Given the description of an element on the screen output the (x, y) to click on. 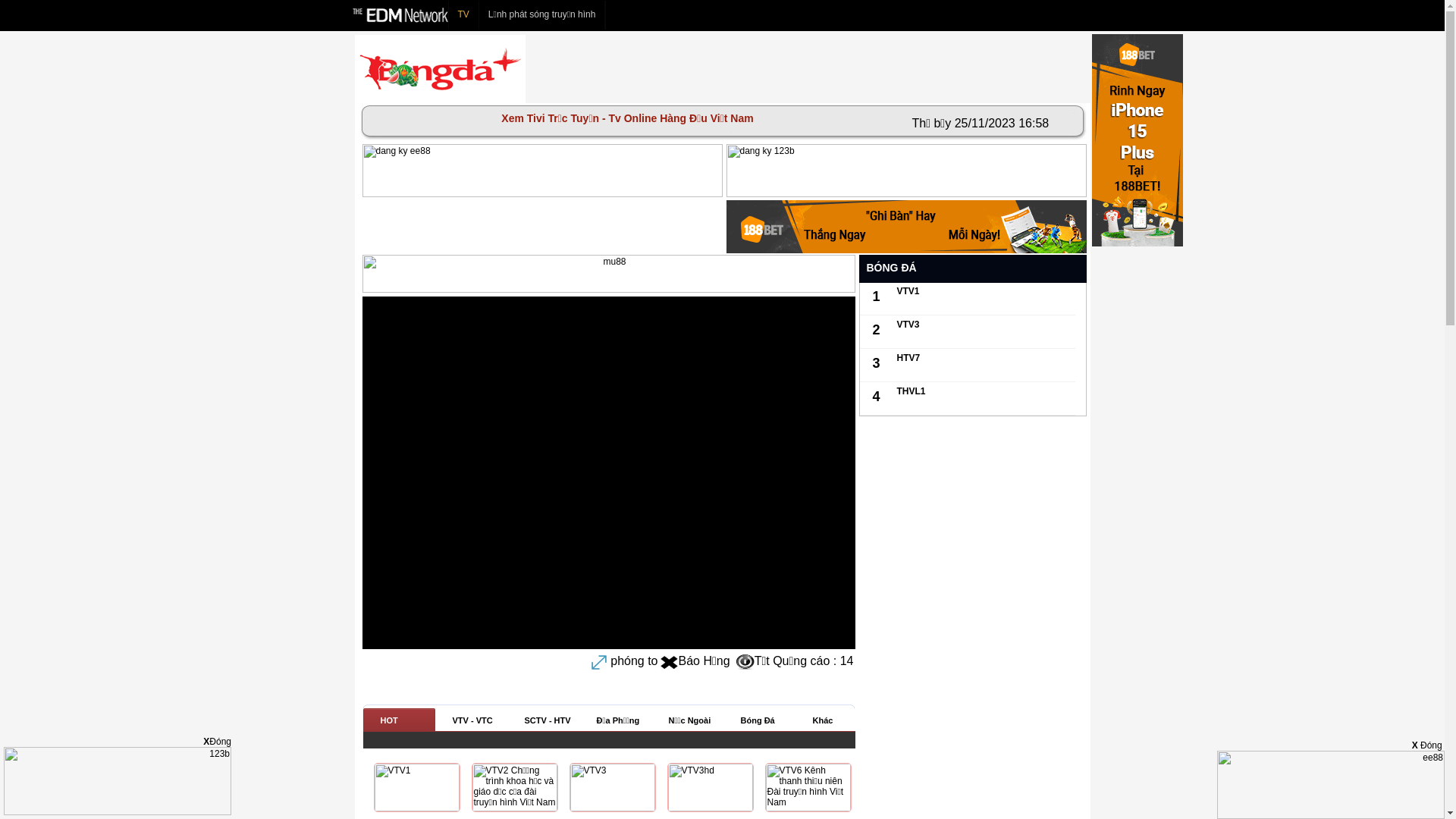
HTV7 Element type: text (907, 357)
HOT Element type: text (398, 719)
SCTV - HTV Element type: text (546, 720)
SCTV - HTV Element type: text (542, 719)
123b Element type: hover (117, 811)
VTV1 Element type: text (907, 290)
TV Element type: text (463, 15)
HOT Element type: text (402, 720)
123b Element type: hover (906, 170)
188BET Element type: hover (1137, 243)
VTV3 Element type: text (907, 324)
ee88 Element type: hover (542, 170)
THVL1 Element type: text (910, 390)
VTV - VTC Element type: text (471, 719)
VTV - VTC Element type: text (474, 720)
VTV1 Viet Nam Element type: hover (416, 808)
188 Element type: hover (906, 226)
